Given the description of an element on the screen output the (x, y) to click on. 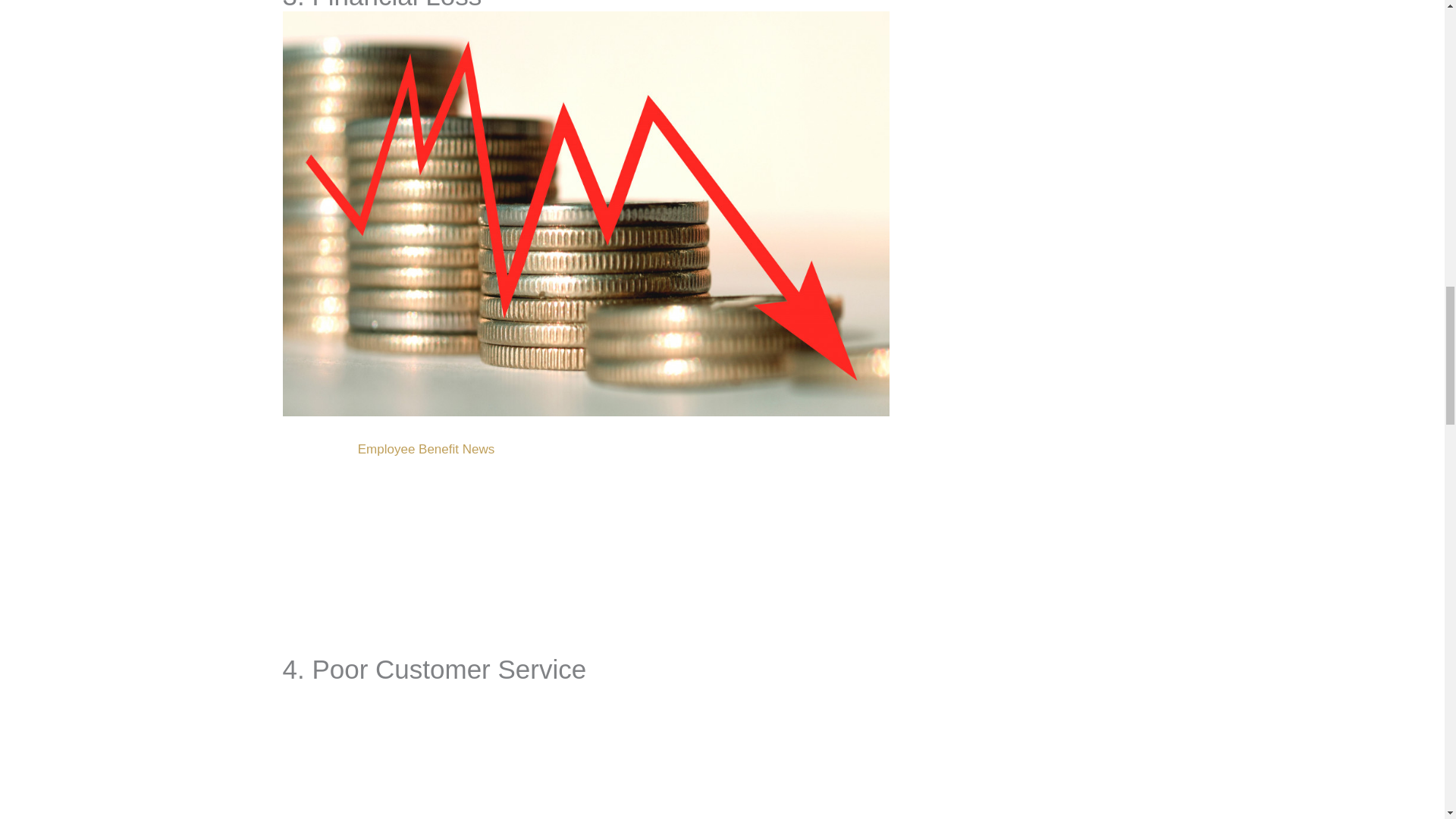
Employee Benefit News (426, 449)
